Given the description of an element on the screen output the (x, y) to click on. 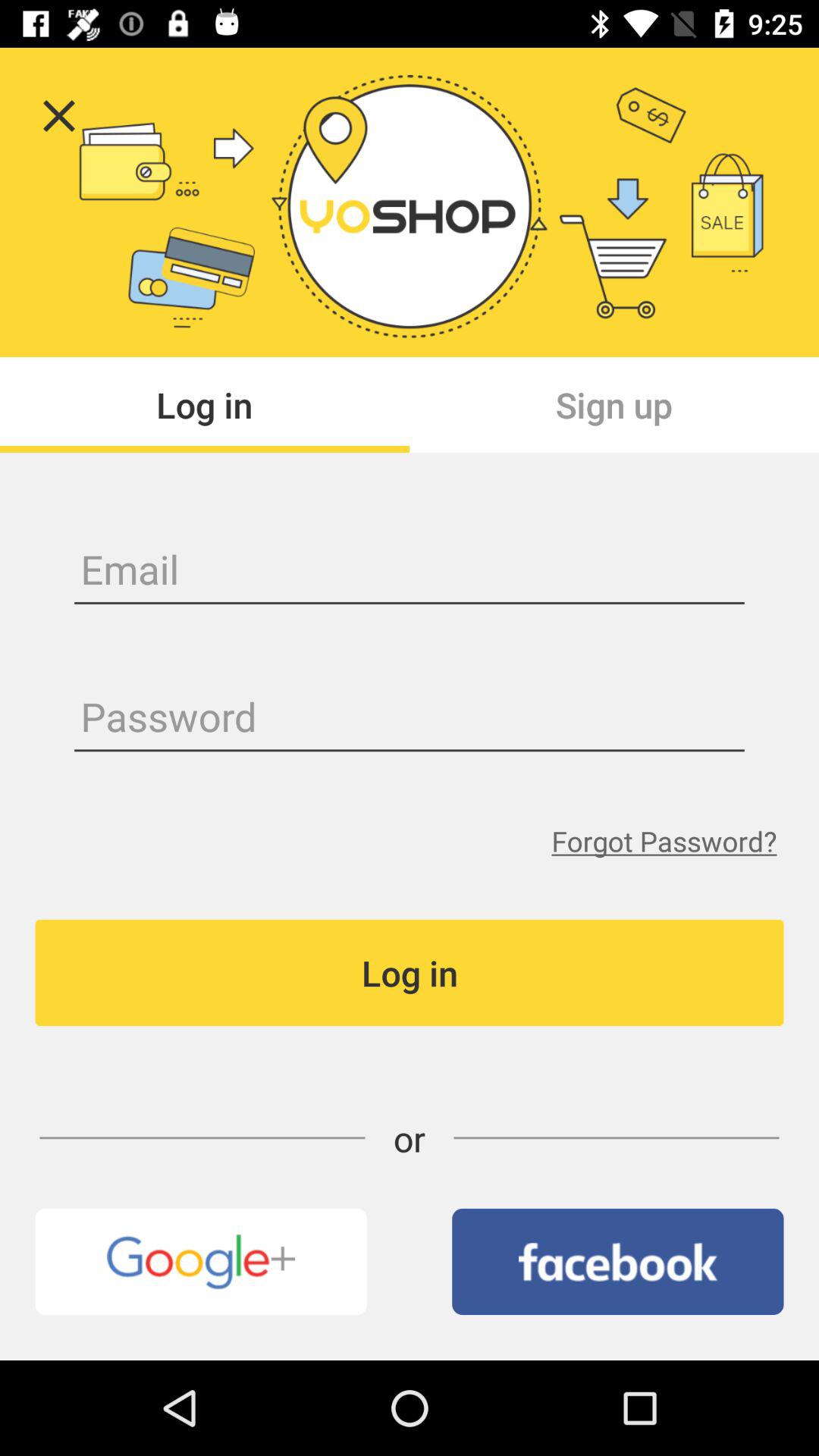
closse the app (59, 115)
